Given the description of an element on the screen output the (x, y) to click on. 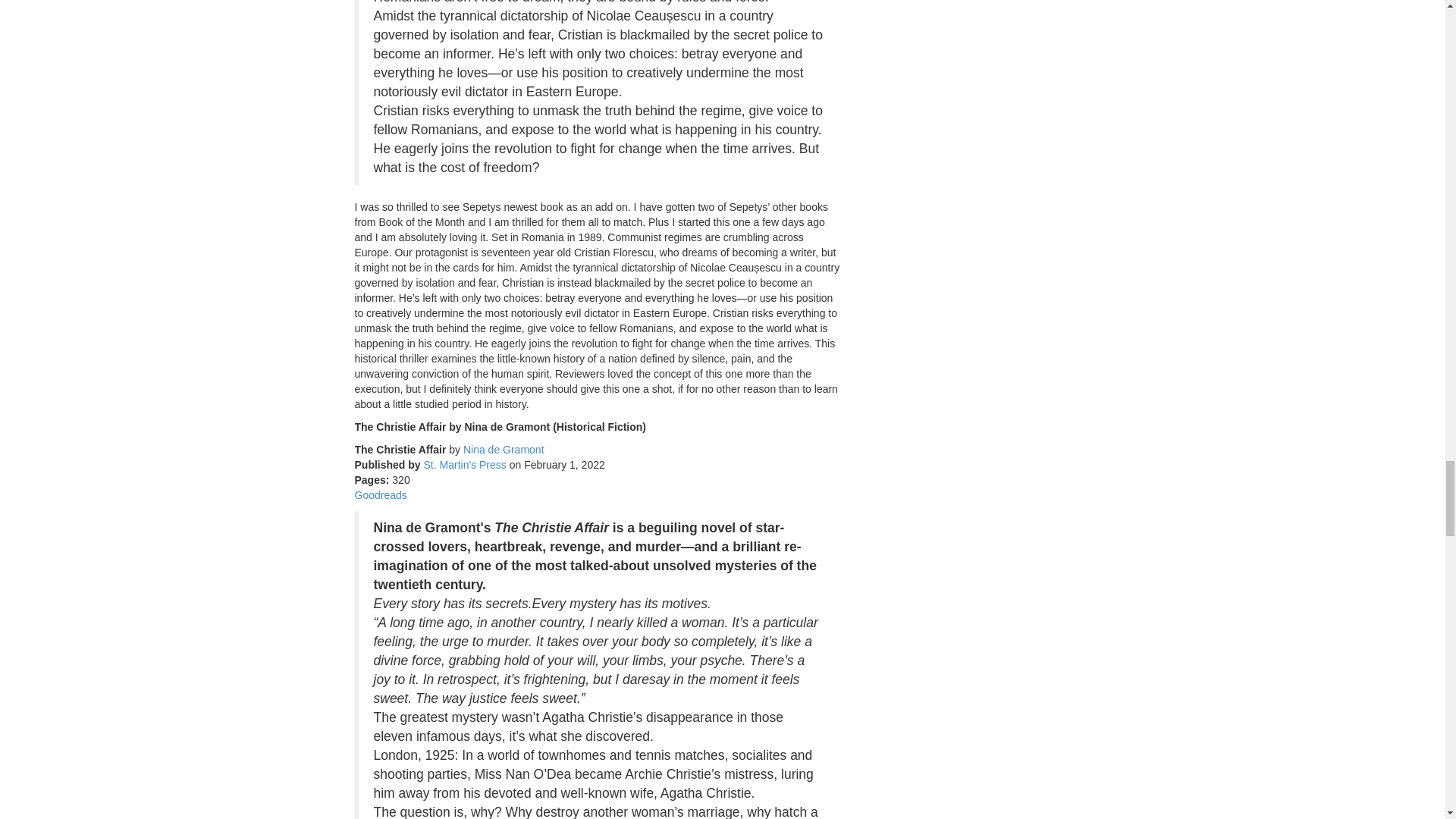
Nina de Gramont (503, 449)
St. Martin's Press (464, 464)
Goodreads (381, 494)
